Given the description of an element on the screen output the (x, y) to click on. 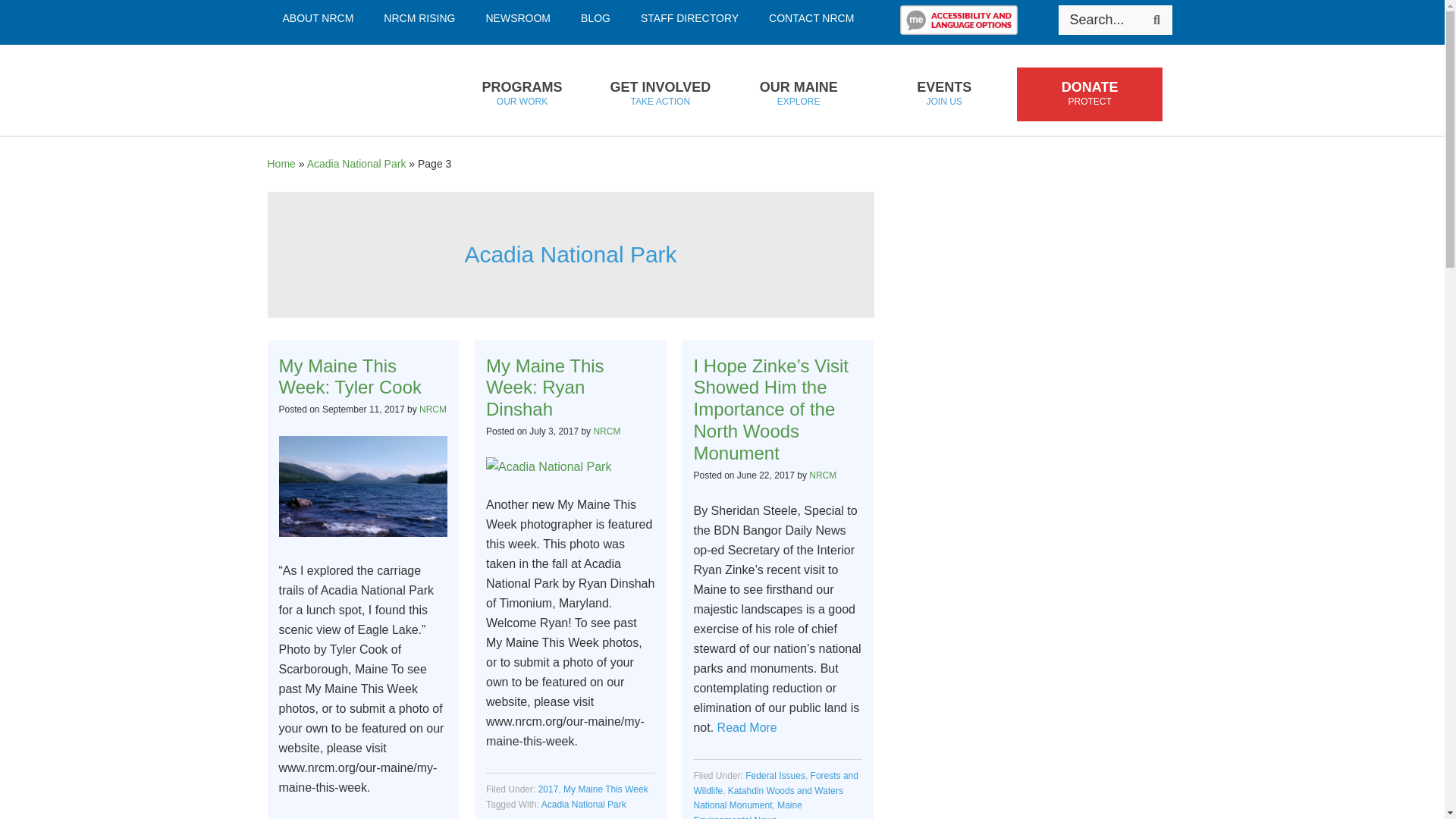
STAFF DIRECTORY (690, 18)
NEWSROOM (521, 94)
Skip to primary navigation (518, 18)
BLOG (419, 18)
Natural Resources Council of Maine (596, 18)
ABOUT NRCM (347, 90)
Search (317, 18)
CONTACT NRCM (1156, 19)
Read More (811, 18)
